Given the description of an element on the screen output the (x, y) to click on. 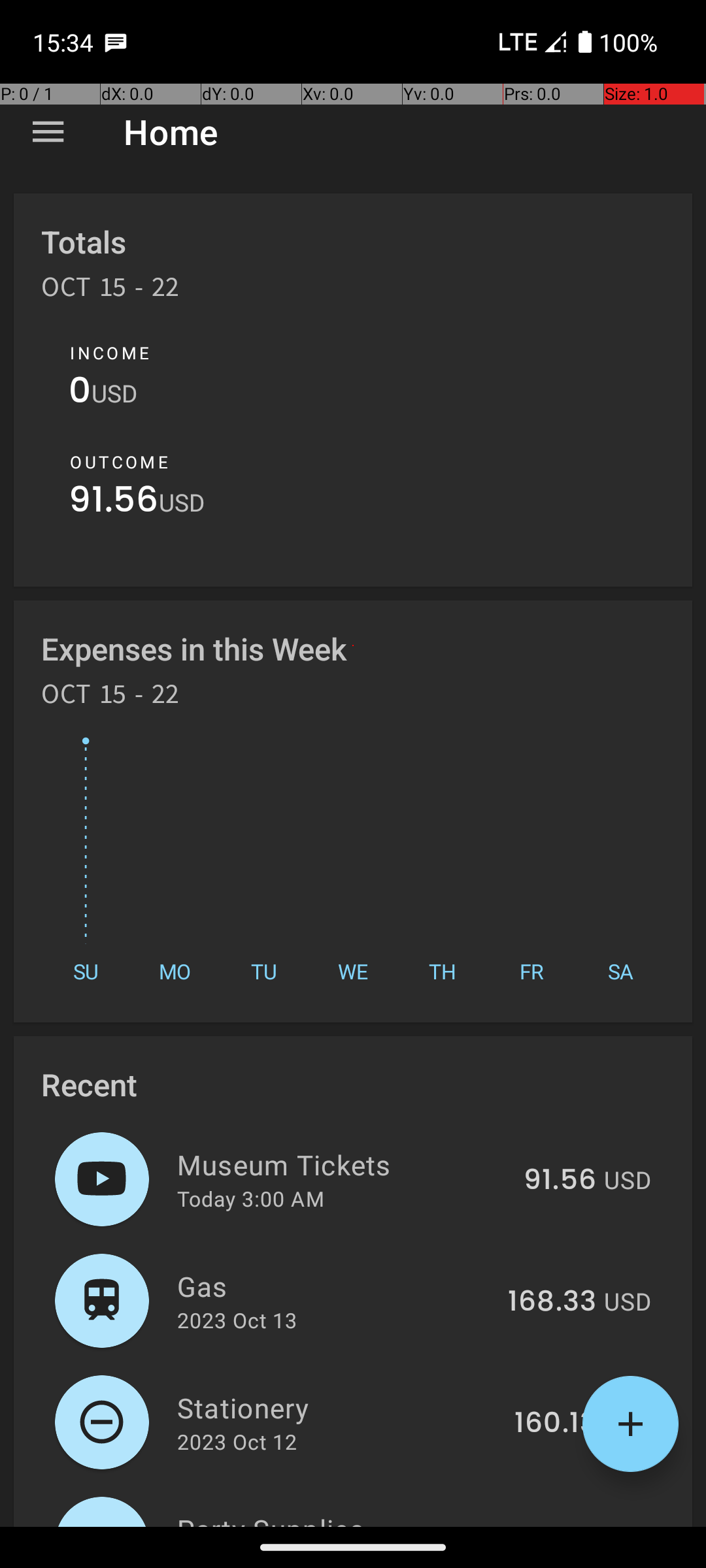
91.56 Element type: android.widget.TextView (113, 502)
Museum Tickets Element type: android.widget.TextView (342, 1164)
Today 3:00 AM Element type: android.widget.TextView (250, 1198)
Gas Element type: android.widget.TextView (334, 1285)
168.33 Element type: android.widget.TextView (551, 1301)
Stationery Element type: android.widget.TextView (338, 1407)
160.13 Element type: android.widget.TextView (554, 1423)
Party Supplies Element type: android.widget.TextView (332, 1518)
302.52 Element type: android.widget.TextView (549, 1524)
